Given the description of an element on the screen output the (x, y) to click on. 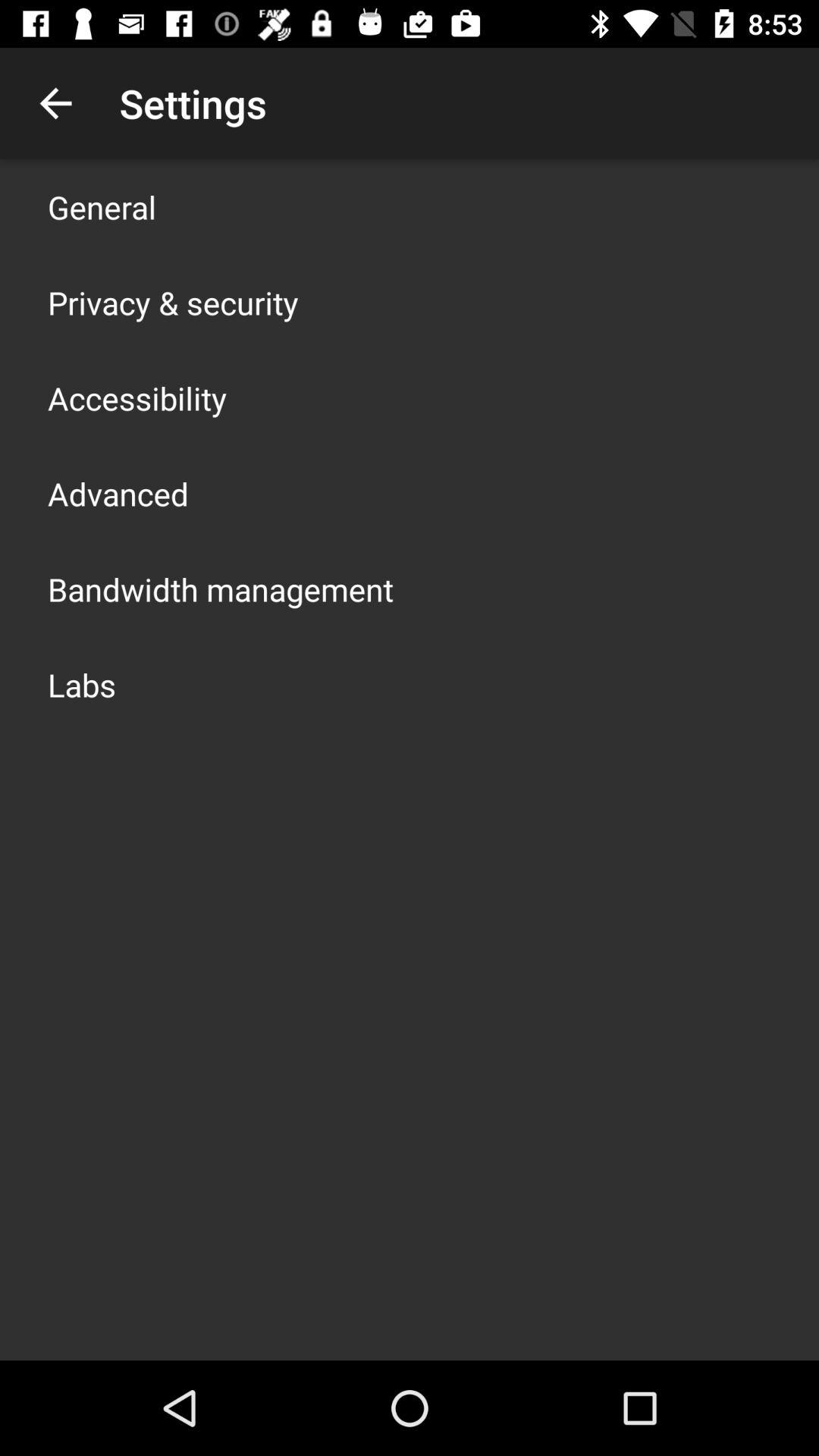
turn off the app below advanced item (220, 588)
